Given the description of an element on the screen output the (x, y) to click on. 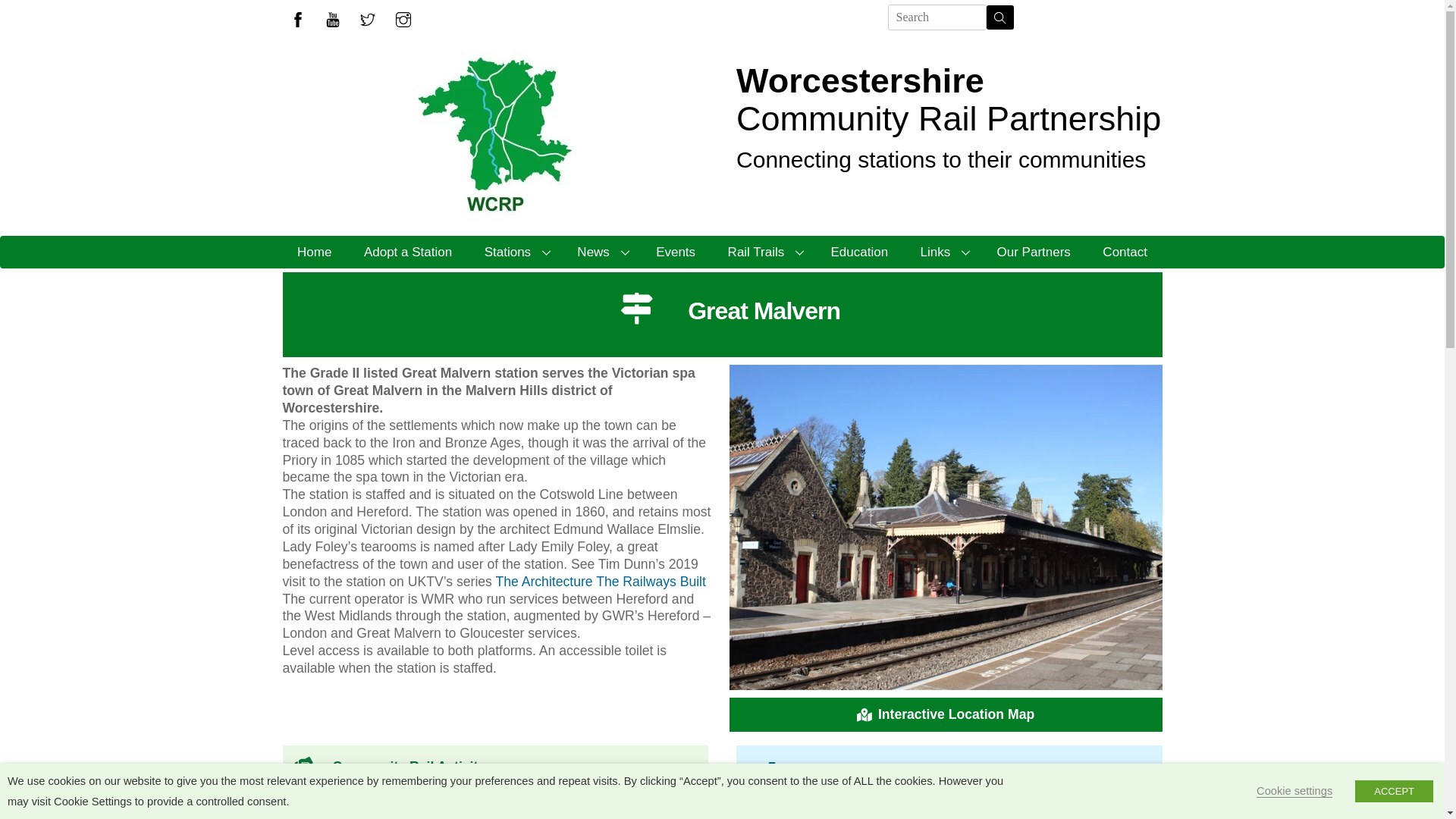
Events (675, 251)
Search (937, 17)
Home (314, 251)
Search (1000, 16)
Rail Trails (762, 251)
Adopt a Station (407, 251)
News (600, 251)
Stations (513, 251)
